Given the description of an element on the screen output the (x, y) to click on. 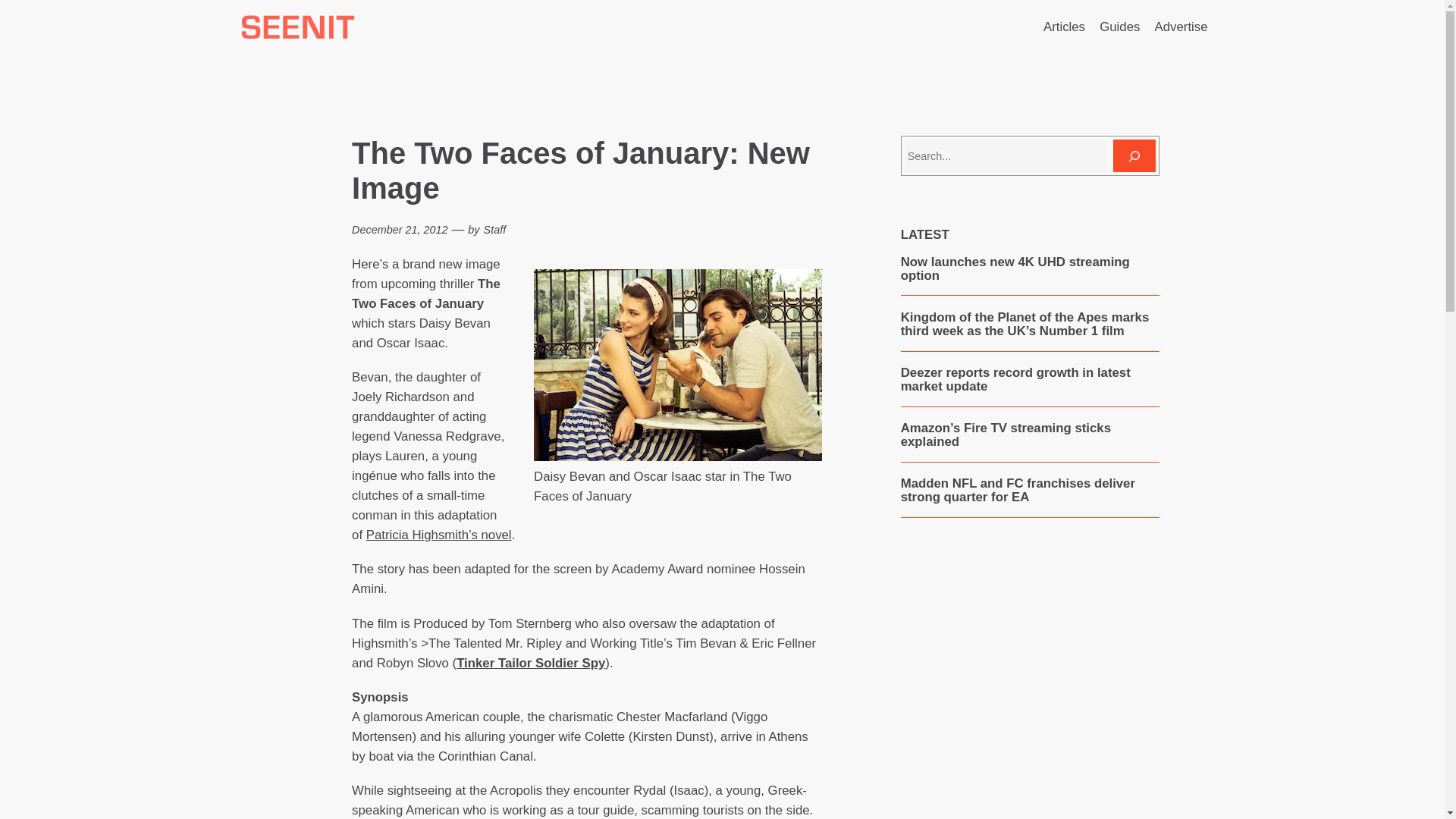
Now launches new 4K UHD streaming option (1029, 269)
Advertisement (1028, 685)
Articles (1063, 26)
Staff (494, 229)
Deezer reports record growth in latest market update (1029, 379)
Advertise (1181, 26)
Guides (1119, 26)
Madden NFL and FC franchises deliver strong quarter for EA (1029, 490)
Tinker Tailor Soldier Spy (531, 663)
